Given the description of an element on the screen output the (x, y) to click on. 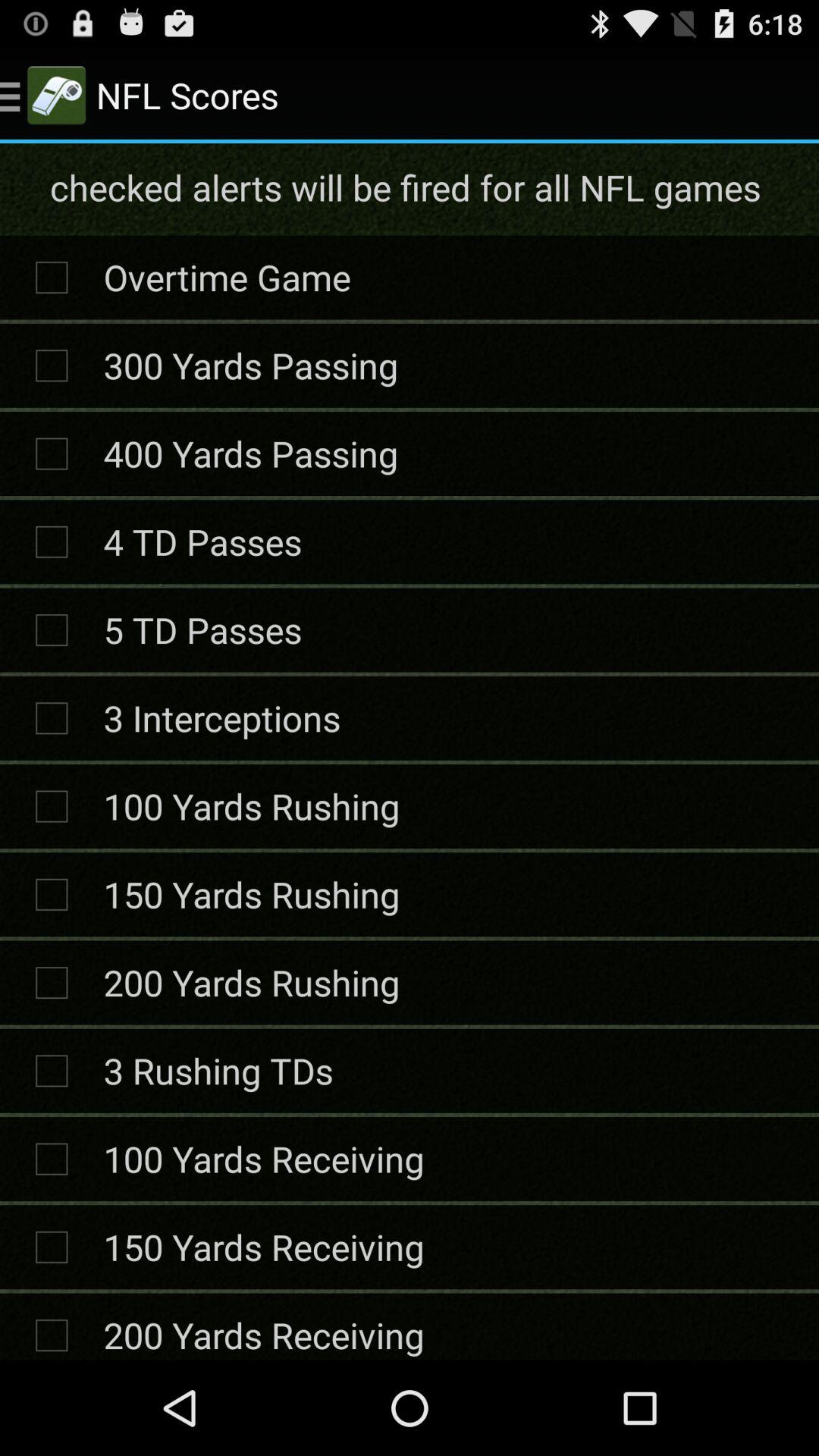
click on the icon beside nfl scores (55, 95)
click on checkbpox left to 100 yards rushing (51, 806)
click on check box left to 100 yards receiving (51, 1158)
click on the icon on the right side of 5 td passes (51, 630)
